Given the description of an element on the screen output the (x, y) to click on. 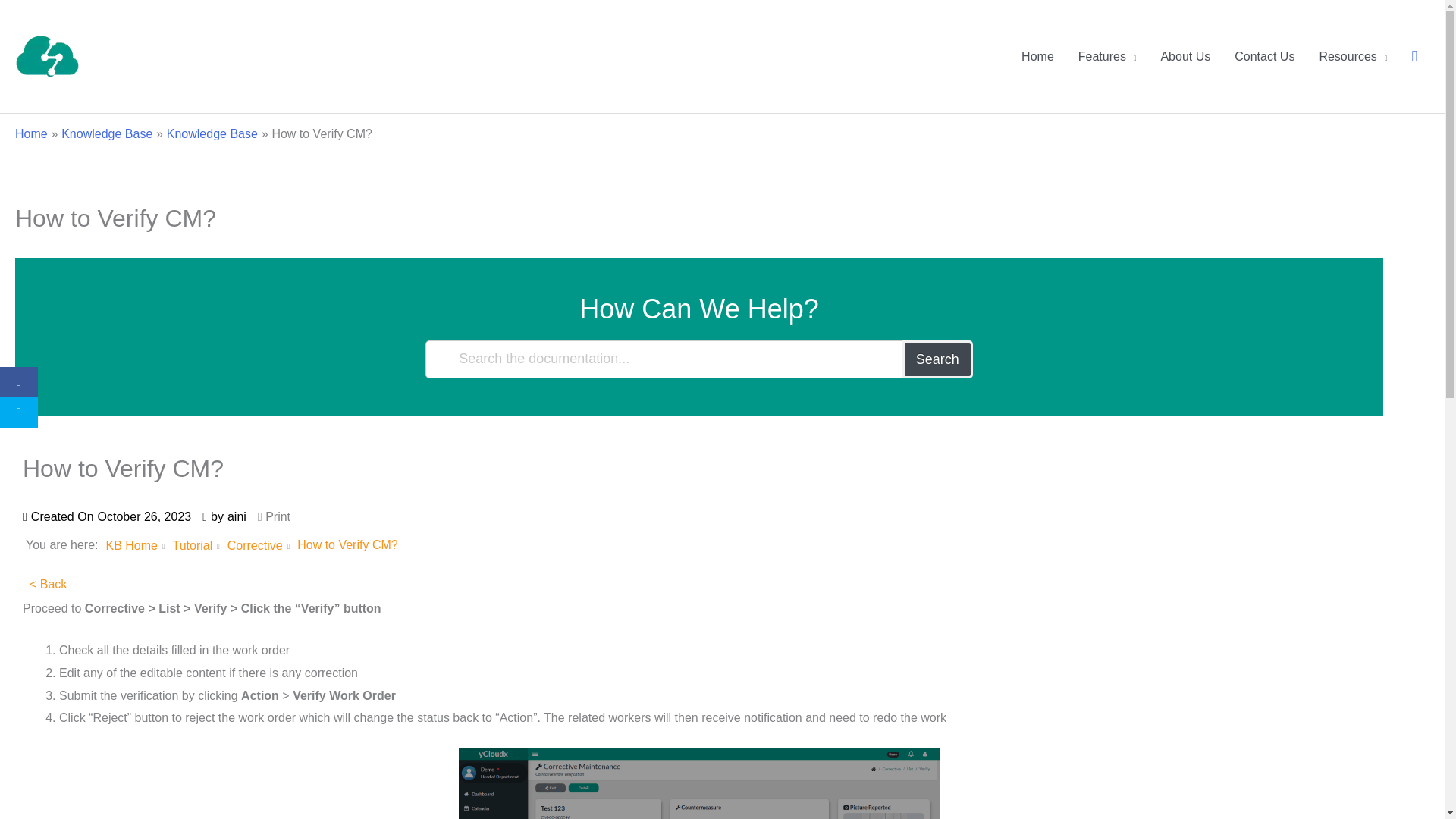
Contact Us (1264, 55)
About Us (1185, 55)
KB Home (130, 545)
Knowledge Base (212, 133)
Home (1037, 55)
Tutorial (191, 545)
Knowledge Base (106, 133)
Corrective (254, 545)
Features (1106, 55)
Resources (1352, 55)
